Given the description of an element on the screen output the (x, y) to click on. 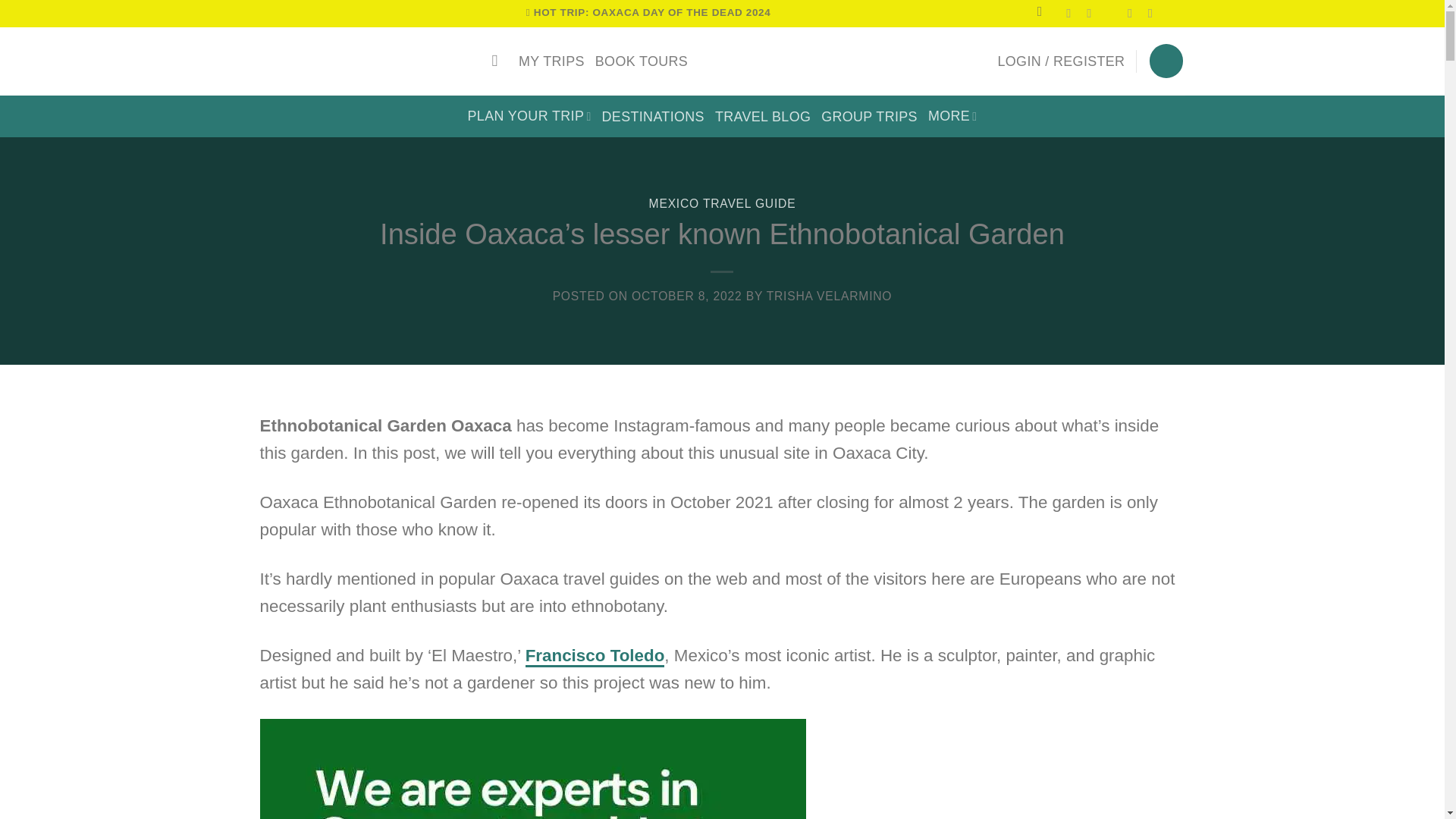
Send us an email (1133, 12)
GROUP TRIPS (869, 116)
Cart (1166, 60)
BOOK TOURS (641, 60)
MY TRIPS (551, 60)
Follow on TikTok (1112, 12)
Follow on Facebook (1071, 12)
MORE (952, 116)
Follow on Instagram (1092, 12)
